Given the description of an element on the screen output the (x, y) to click on. 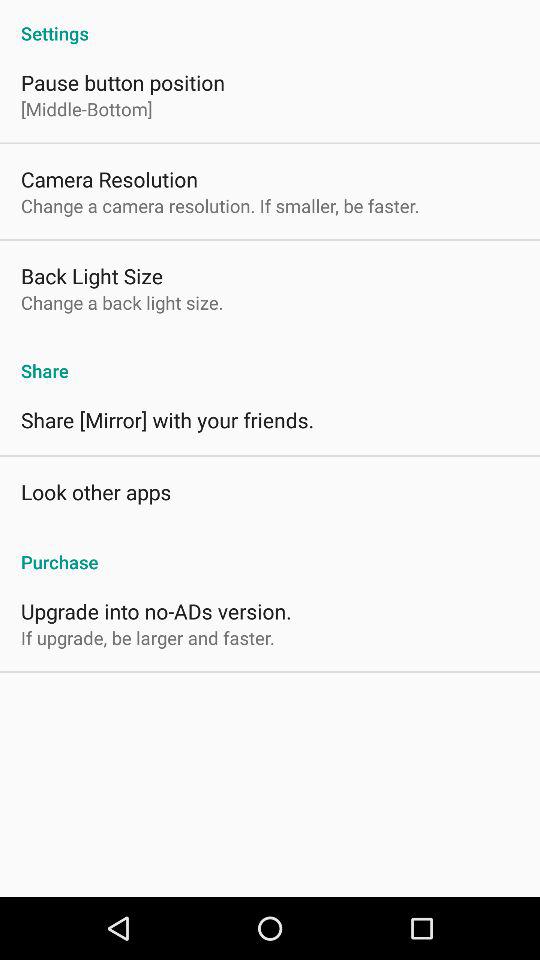
turn on app below the share (167, 419)
